Given the description of an element on the screen output the (x, y) to click on. 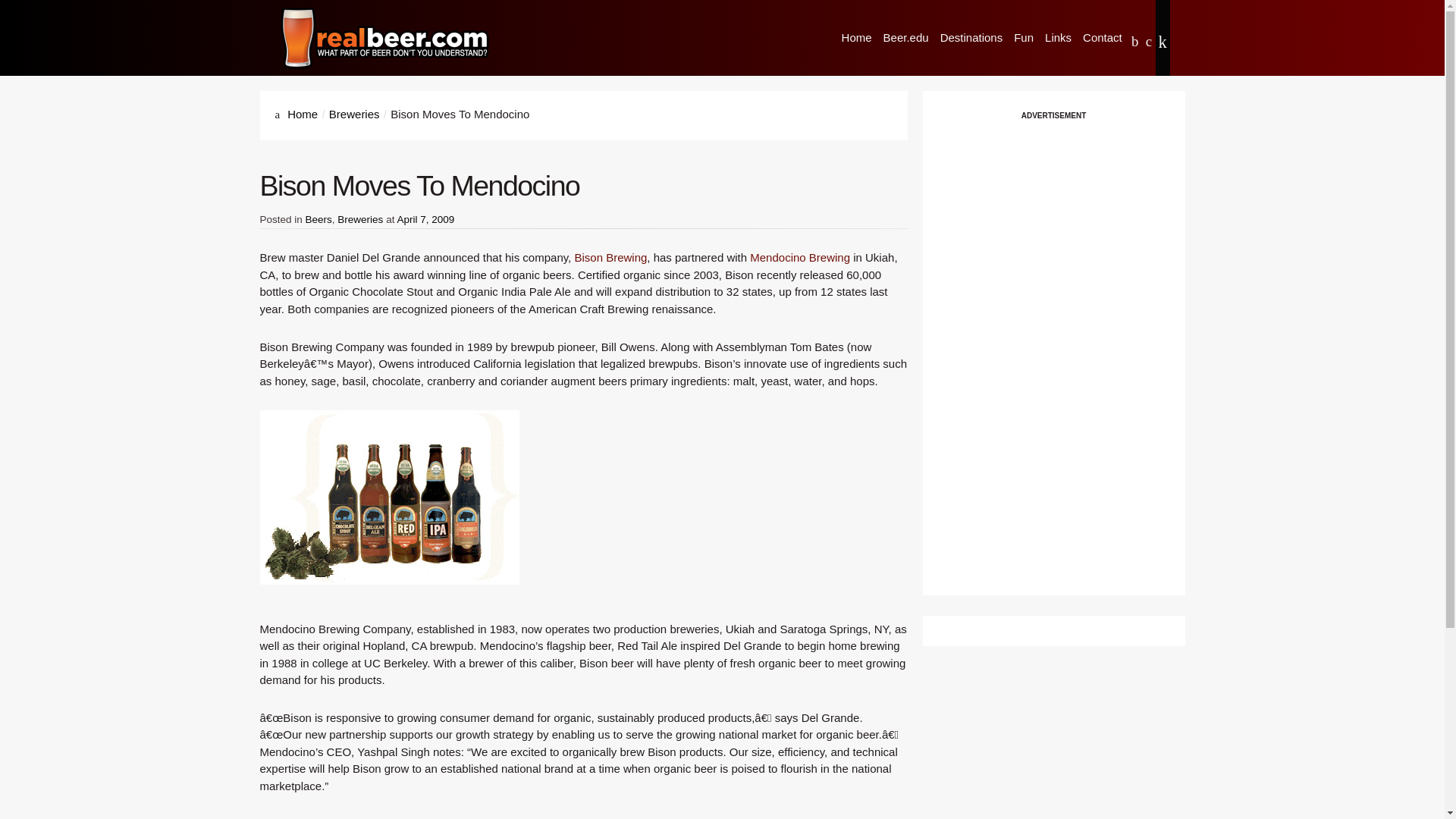
April 7, 2009 (425, 219)
Beers (318, 219)
7:07 am (425, 219)
Destinations (971, 38)
Breweries (354, 113)
Mendocino Brewing (799, 256)
Home (301, 113)
What part of beer don't you understand? (385, 38)
Breweries (359, 219)
Bison Brewing (609, 256)
